Given the description of an element on the screen output the (x, y) to click on. 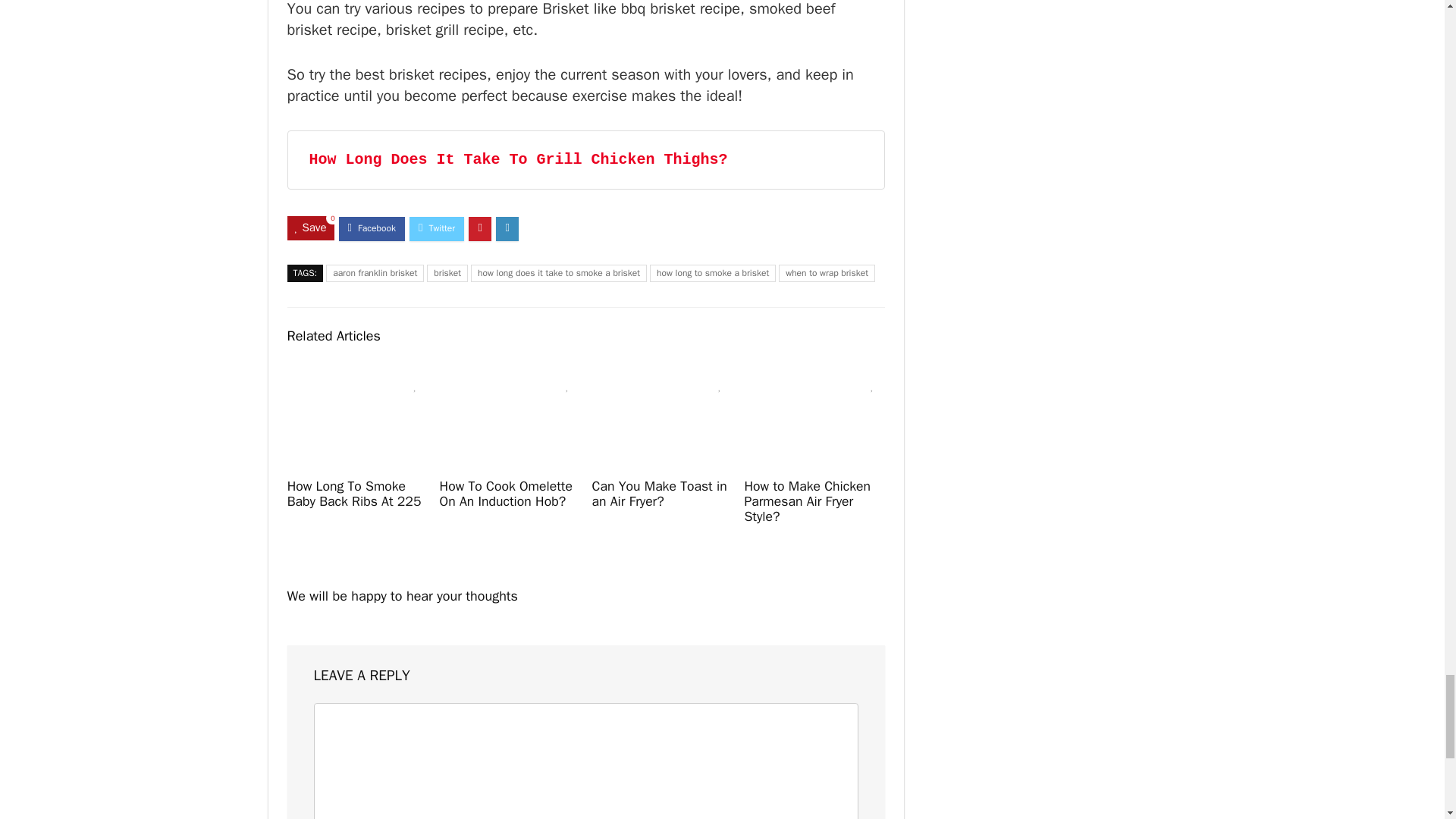
Can You Make Toast in an Air Fryer? (658, 493)
brisket (446, 272)
How To Cook Omelette On An Induction Hob?  (505, 493)
how long to smoke a brisket (712, 272)
when to wrap brisket (826, 272)
how long does it take to smoke a brisket (558, 272)
aaron franklin brisket (374, 272)
How Long To Smoke Baby Back Ribs At 225 (354, 493)
How Long Does It Take To Grill Chicken Thighs? (518, 159)
How to Make Chicken Parmesan Air Fryer Style? (807, 500)
